Given the description of an element on the screen output the (x, y) to click on. 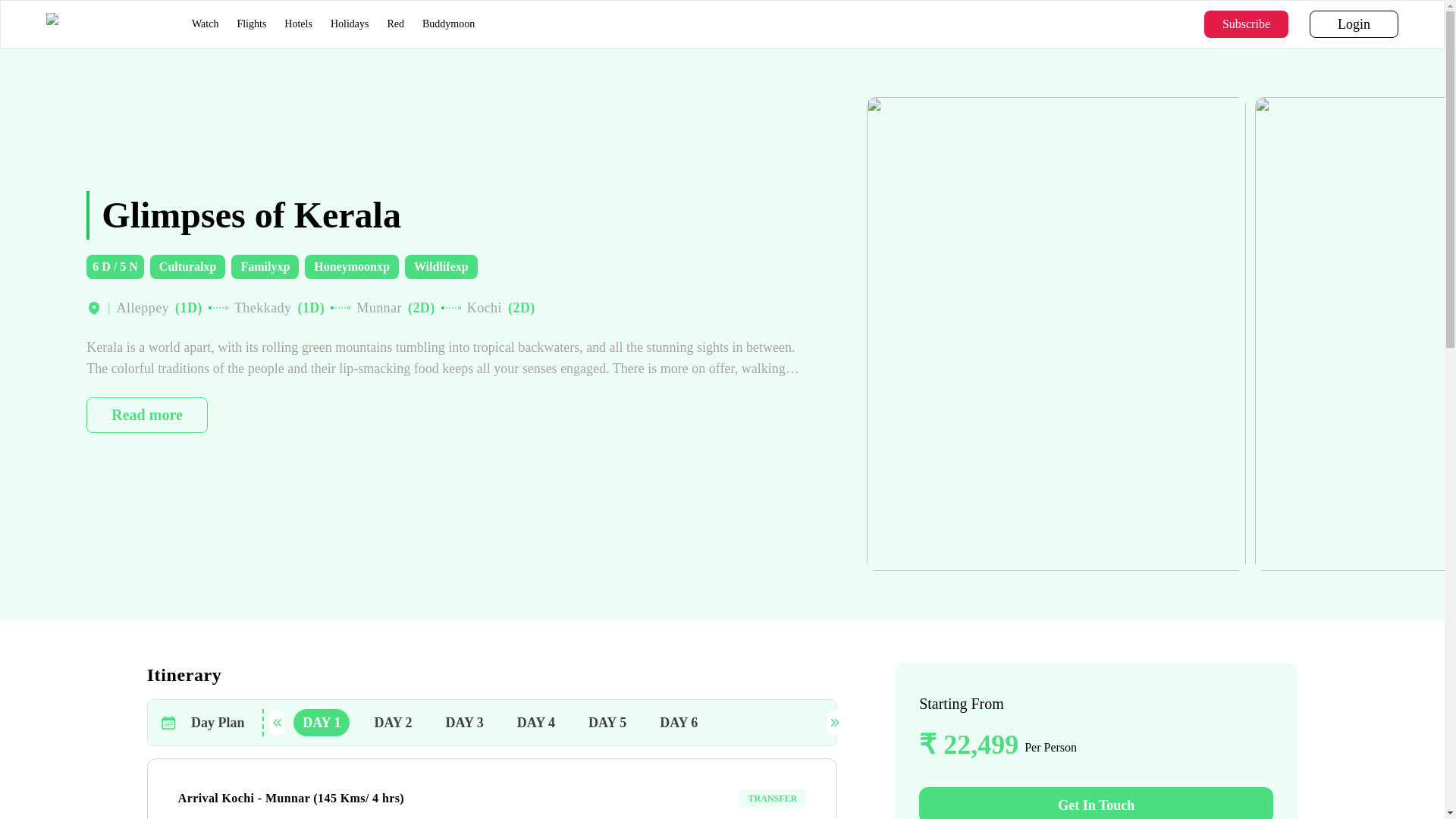
Read more (147, 414)
Holidays (349, 23)
Subscribe (1246, 23)
Buddymoon (560, 722)
Red (448, 23)
Login (395, 23)
Watch (1354, 23)
Read more (205, 23)
Flights (147, 414)
Hotels (250, 23)
